Given the description of an element on the screen output the (x, y) to click on. 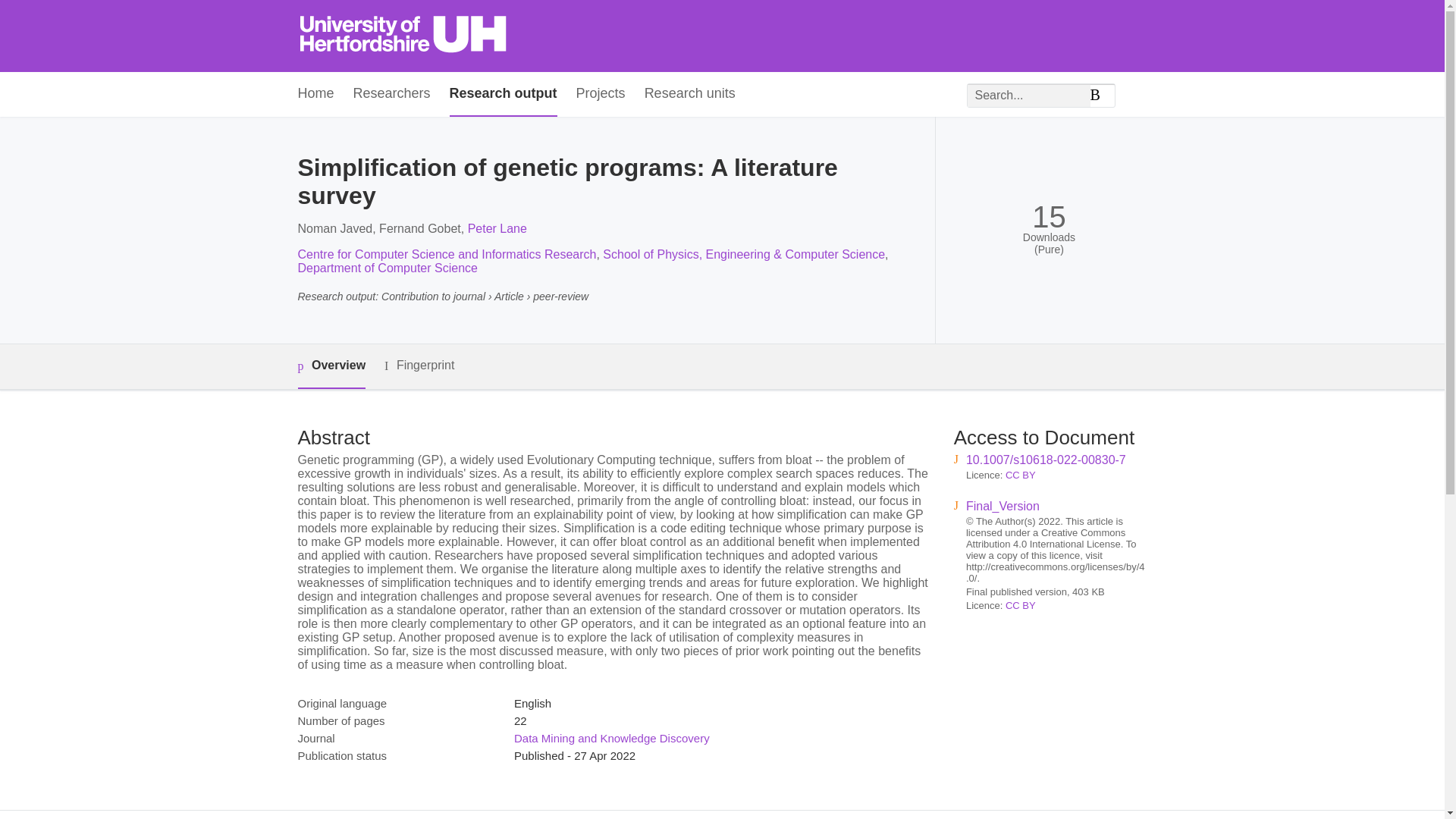
Research output (503, 94)
CC BY (1020, 474)
Overview (331, 366)
Department of Computer Science (387, 267)
Projects (601, 94)
Research units (690, 94)
Data Mining and Knowledge Discovery (611, 738)
Centre for Computer Science and Informatics Research (446, 254)
Peter Lane (497, 228)
